Given the description of an element on the screen output the (x, y) to click on. 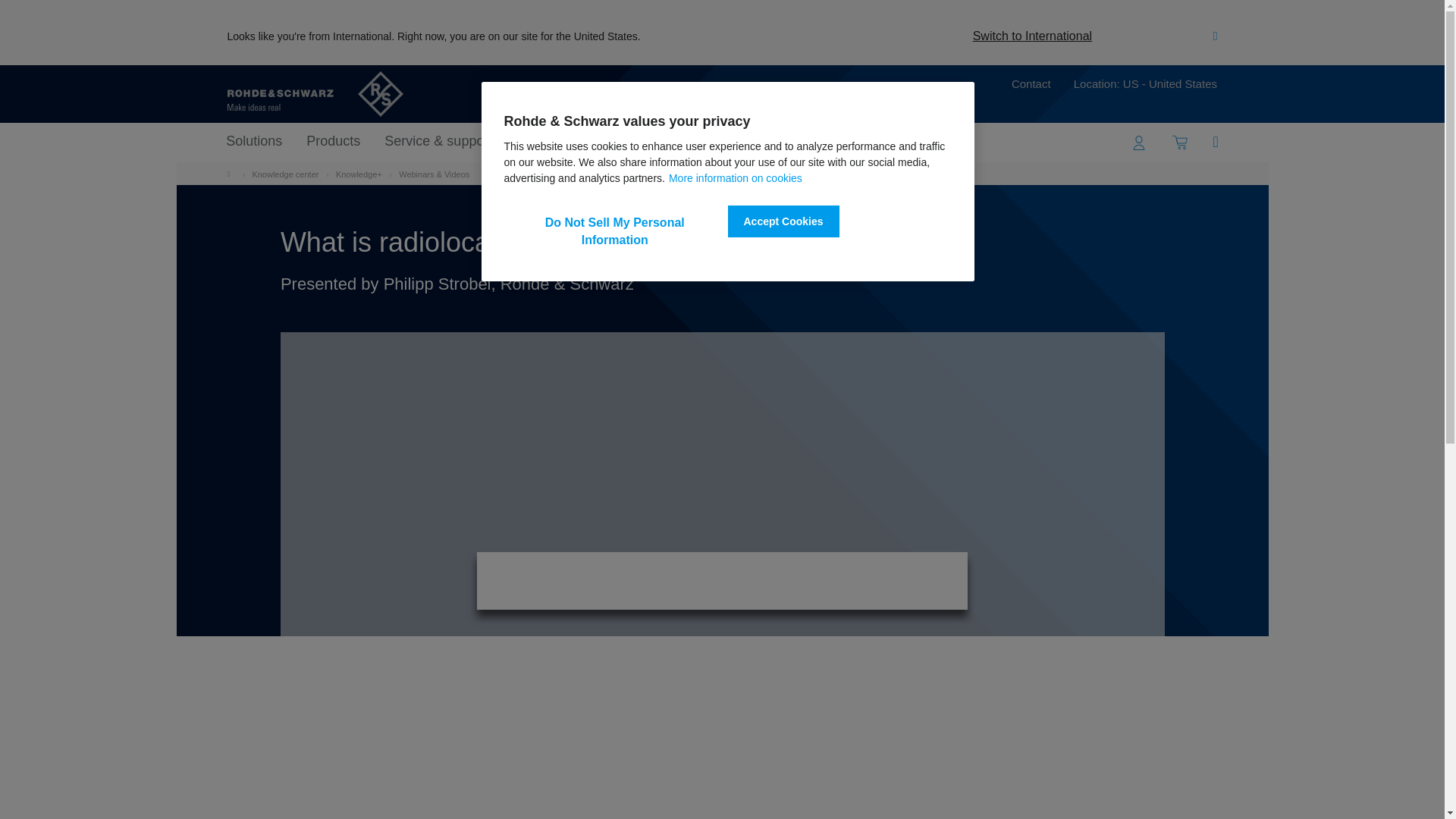
Customer portal (1139, 142)
Home (232, 173)
Switch to International (1032, 36)
Knowledge center (284, 174)
Contact (1031, 85)
